Given the description of an element on the screen output the (x, y) to click on. 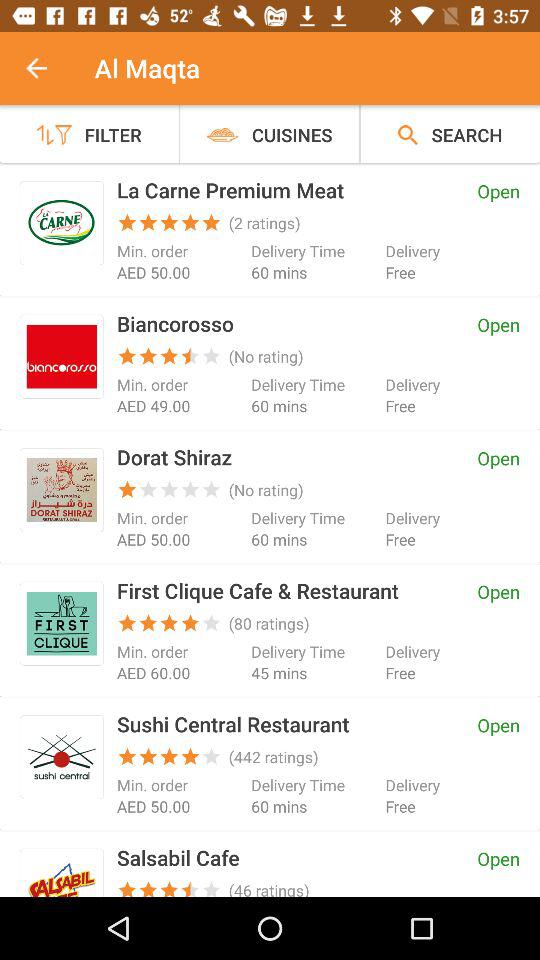
click to dorat shiraz (61, 489)
